Given the description of an element on the screen output the (x, y) to click on. 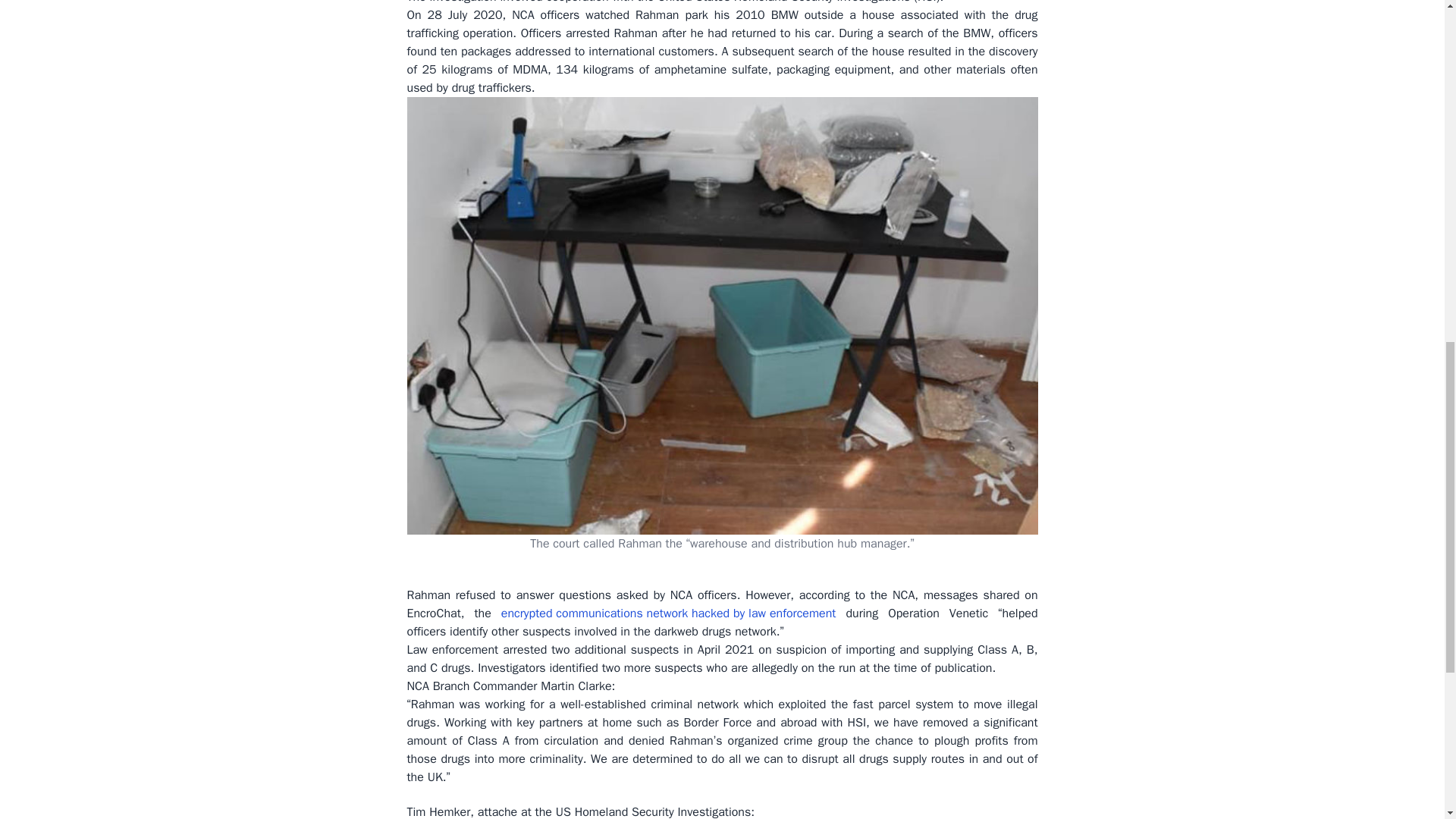
encrypted communications network hacked by law enforcement (667, 613)
